Given the description of an element on the screen output the (x, y) to click on. 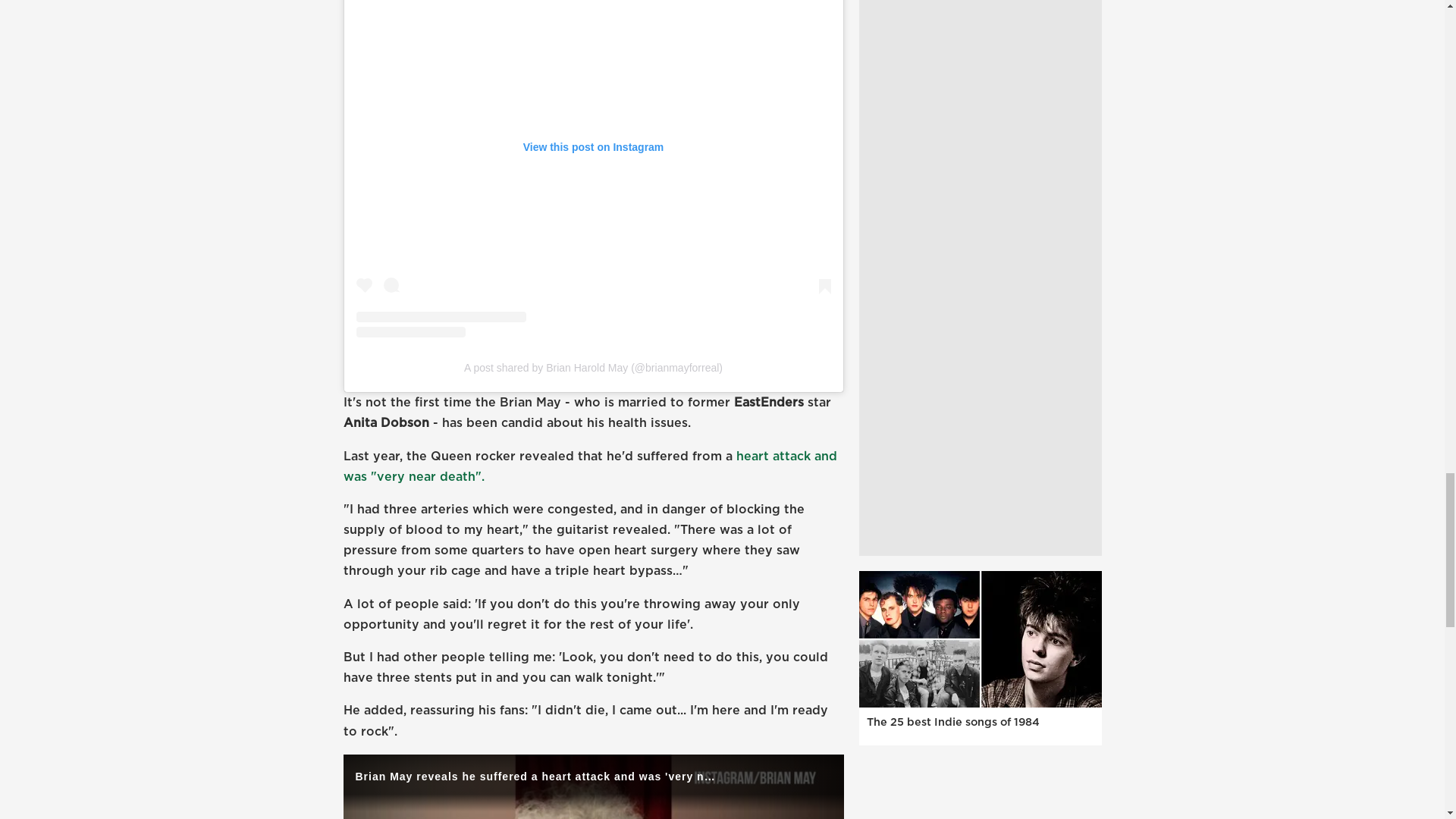
heart attack and was "very near death". (588, 466)
